Given the description of an element on the screen output the (x, y) to click on. 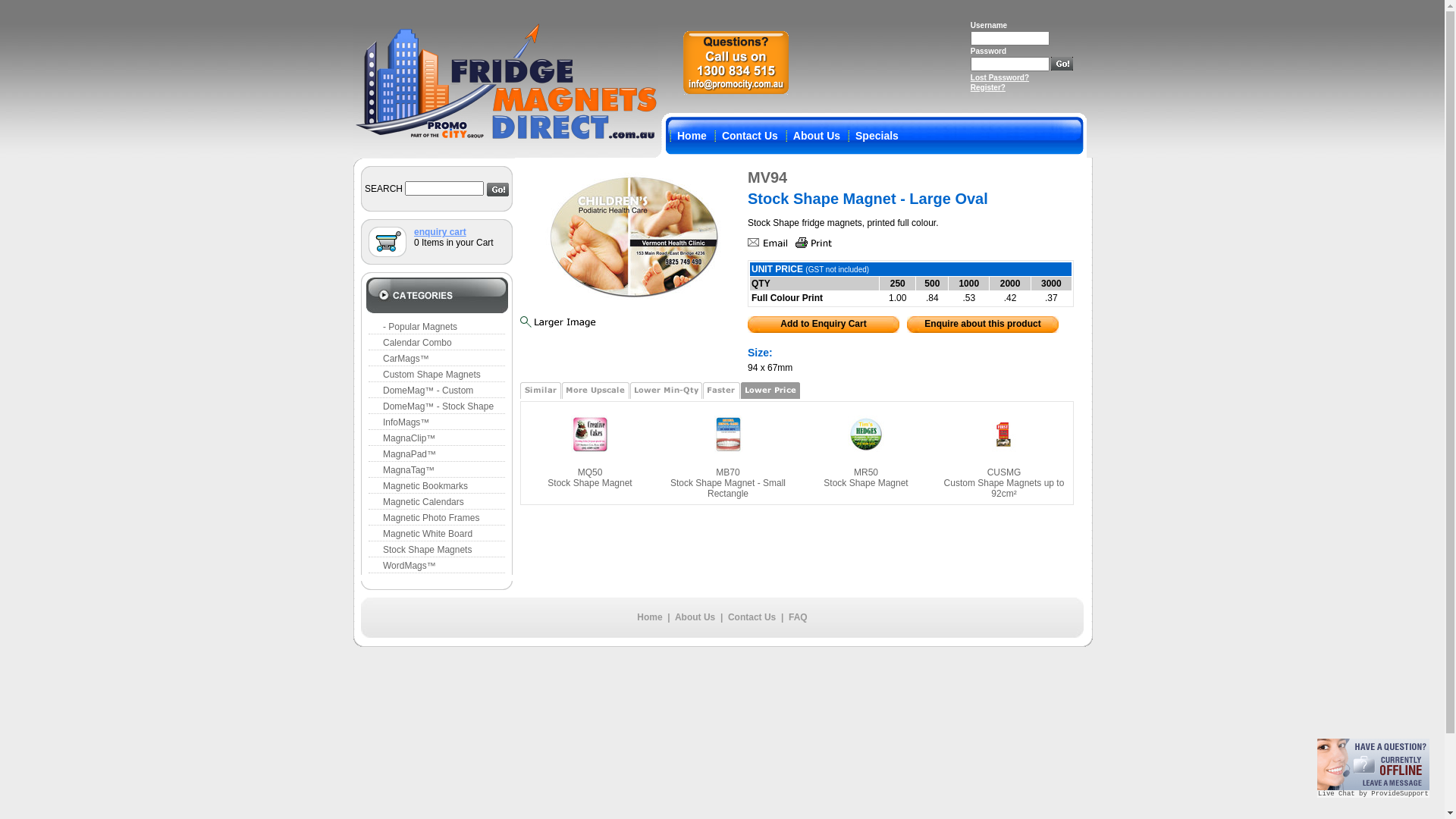
Enquire about this product Element type: text (982, 326)
MQ50
Stock Shape Magnet Element type: text (589, 477)
enquiry cart Element type: text (440, 231)
- Popular Magnets Element type: text (436, 327)
Home Element type: text (649, 616)
Magnetic Calendars Element type: text (436, 502)
MR50
Stock Shape Magnet Element type: text (865, 477)
About Us Element type: text (694, 616)
Magnetic White Board Element type: text (436, 534)
Magnetic Bookmarks Element type: text (436, 486)
Live chat offline Element type: hover (1373, 764)
Contact Us Element type: text (749, 135)
FAQ Element type: text (797, 616)
MB70
Stock Shape Magnet - Small Rectangle Element type: text (727, 482)
Add to Enquiry Cart Element type: text (823, 326)
Magnetic Photo Frames Element type: text (436, 518)
Register? Element type: text (987, 87)
Custom Shape Magnets Element type: text (436, 374)
Specials Element type: text (876, 135)
Stock Shape Magnets Element type: text (436, 549)
Calendar Combo Element type: text (436, 342)
Lost Password? Element type: text (999, 77)
About Us Element type: text (816, 135)
Contact Us Element type: text (751, 616)
Home Element type: text (691, 135)
